Given the description of an element on the screen output the (x, y) to click on. 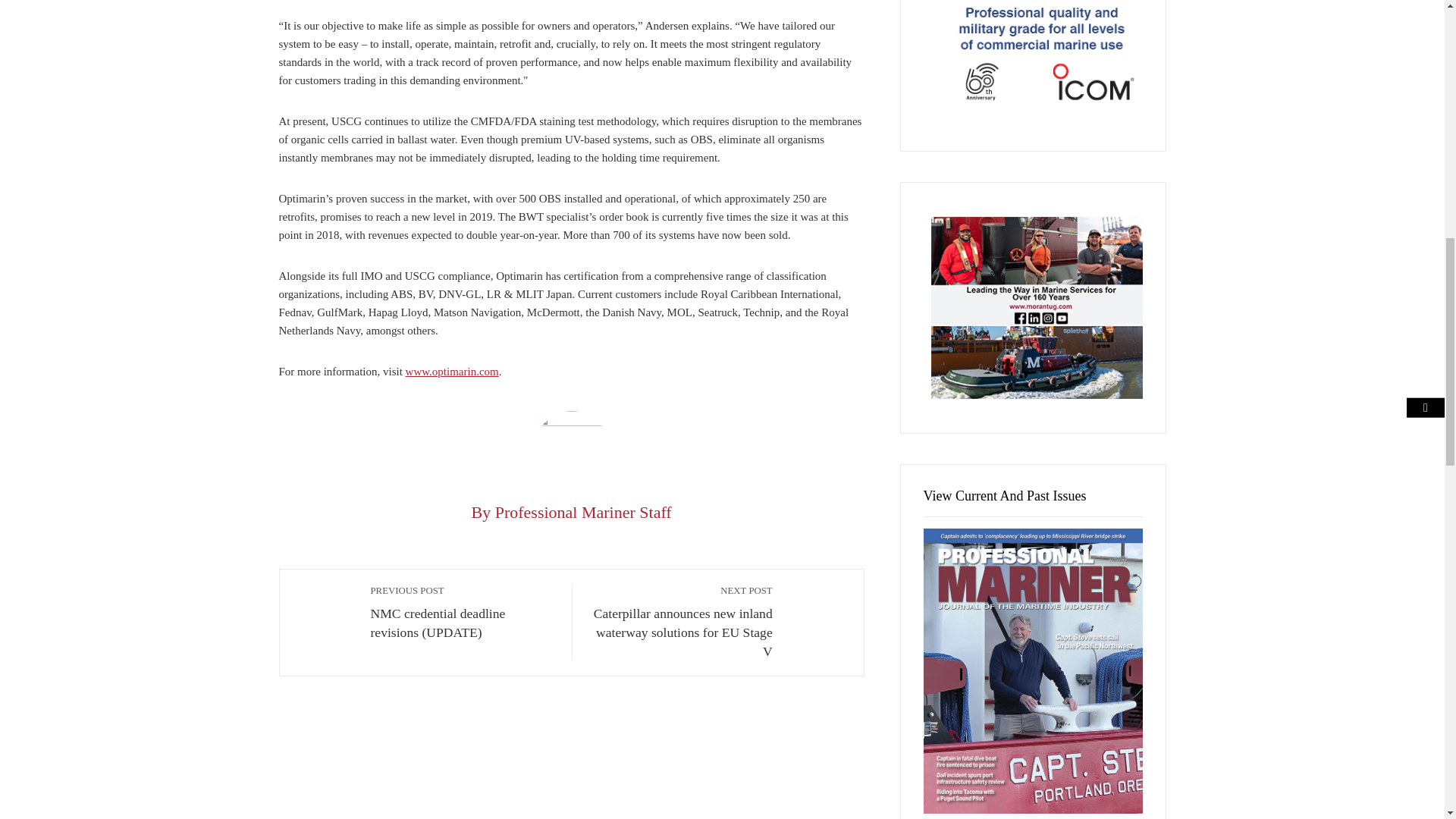
www.optimarin.com (452, 371)
